Given the description of an element on the screen output the (x, y) to click on. 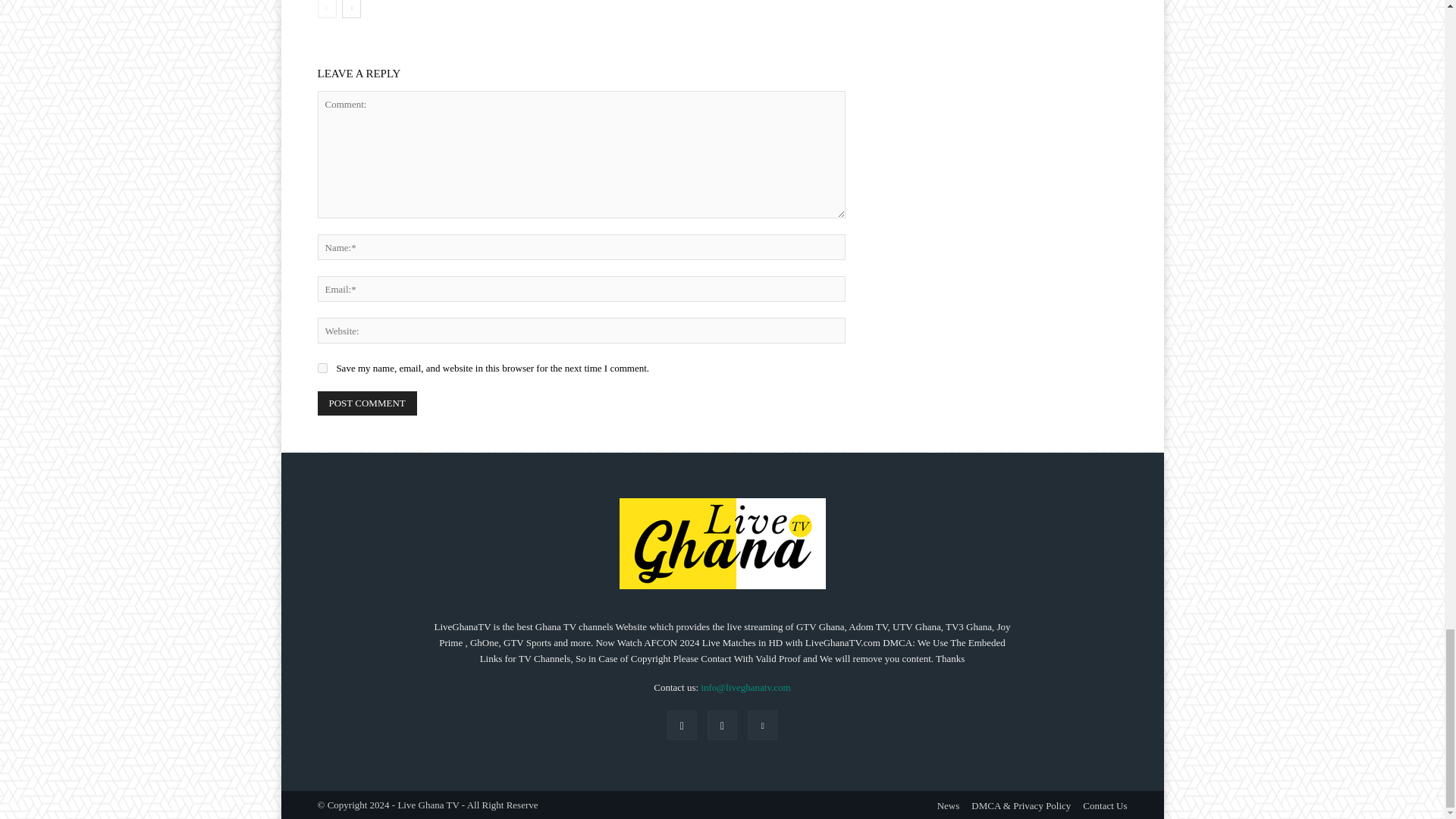
yes (321, 368)
Post Comment (366, 403)
